Given the description of an element on the screen output the (x, y) to click on. 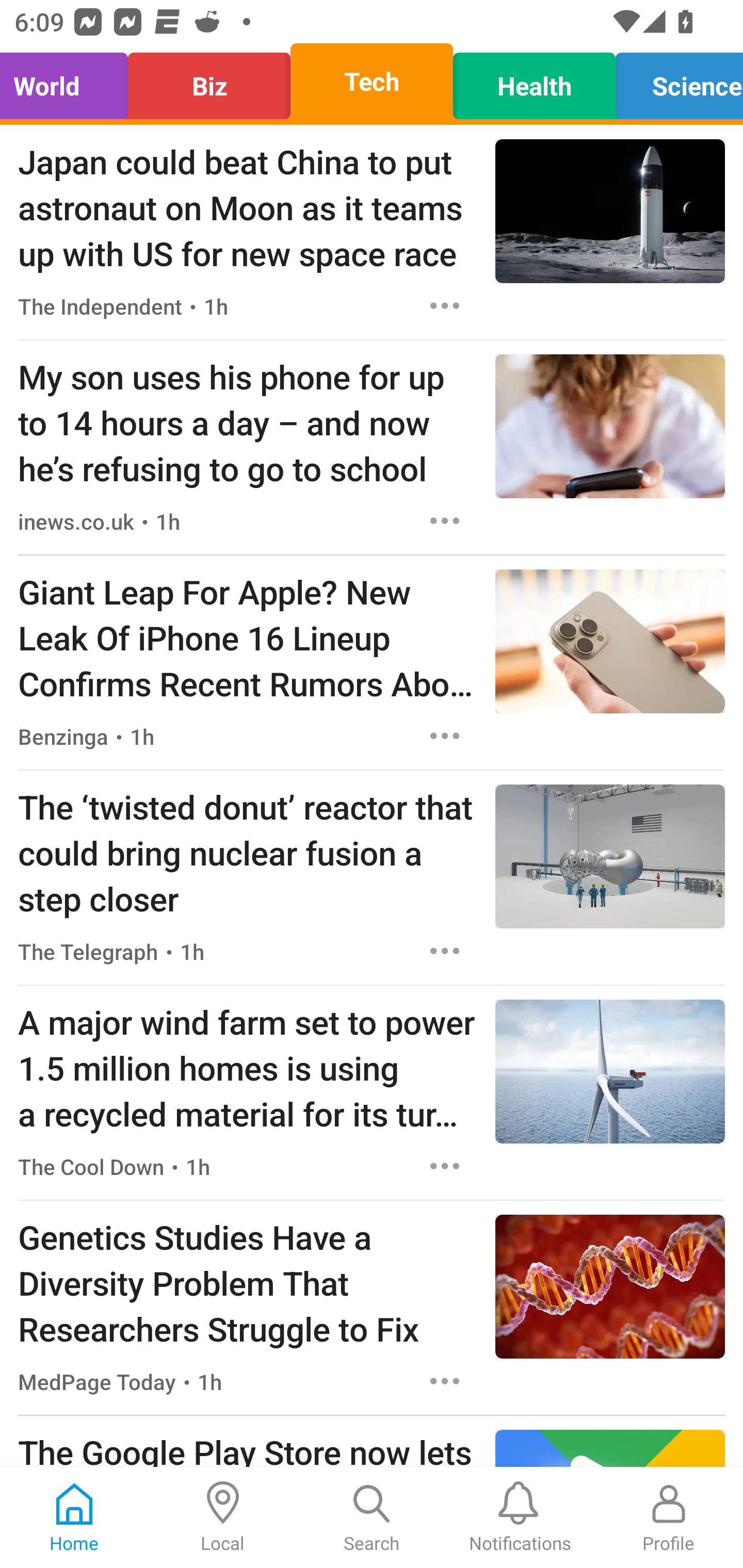
World (69, 81)
Biz (209, 81)
Tech (371, 81)
Health (534, 81)
Science (673, 81)
Options (444, 305)
Options (444, 520)
Options (444, 736)
Options (444, 950)
Options (444, 1166)
Options (444, 1381)
Local (222, 1517)
Search (371, 1517)
Notifications (519, 1517)
Profile (668, 1517)
